Given the description of an element on the screen output the (x, y) to click on. 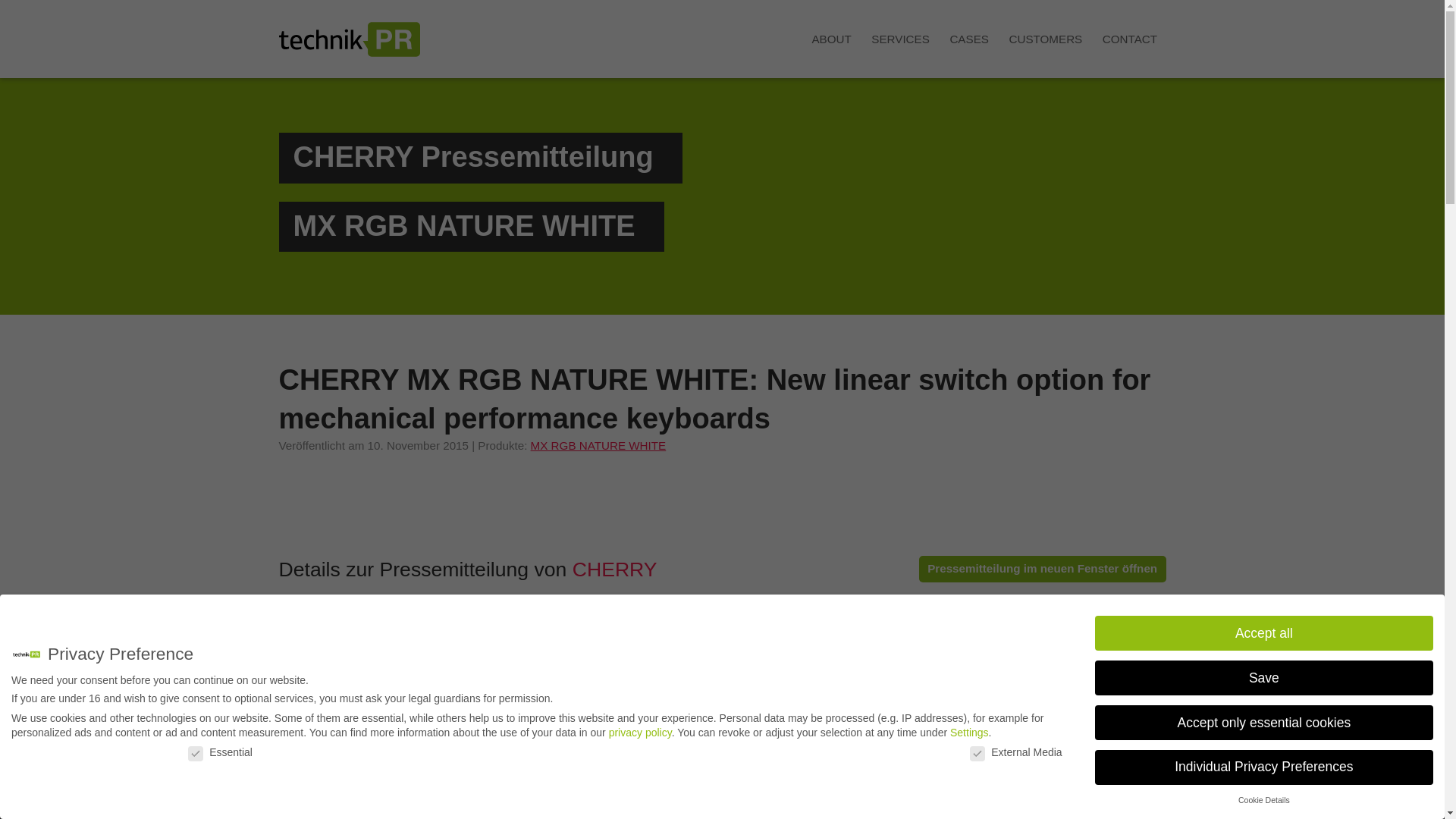
SERVICES (900, 39)
CHERRY (615, 568)
CASES (968, 39)
ABOUT (831, 39)
MX RGB NATURE WHITE (598, 445)
CONTACT (1129, 39)
MX RGB NATURE WHITE (463, 225)
CHERRY (352, 156)
CUSTOMERS (1045, 39)
